Given the description of an element on the screen output the (x, y) to click on. 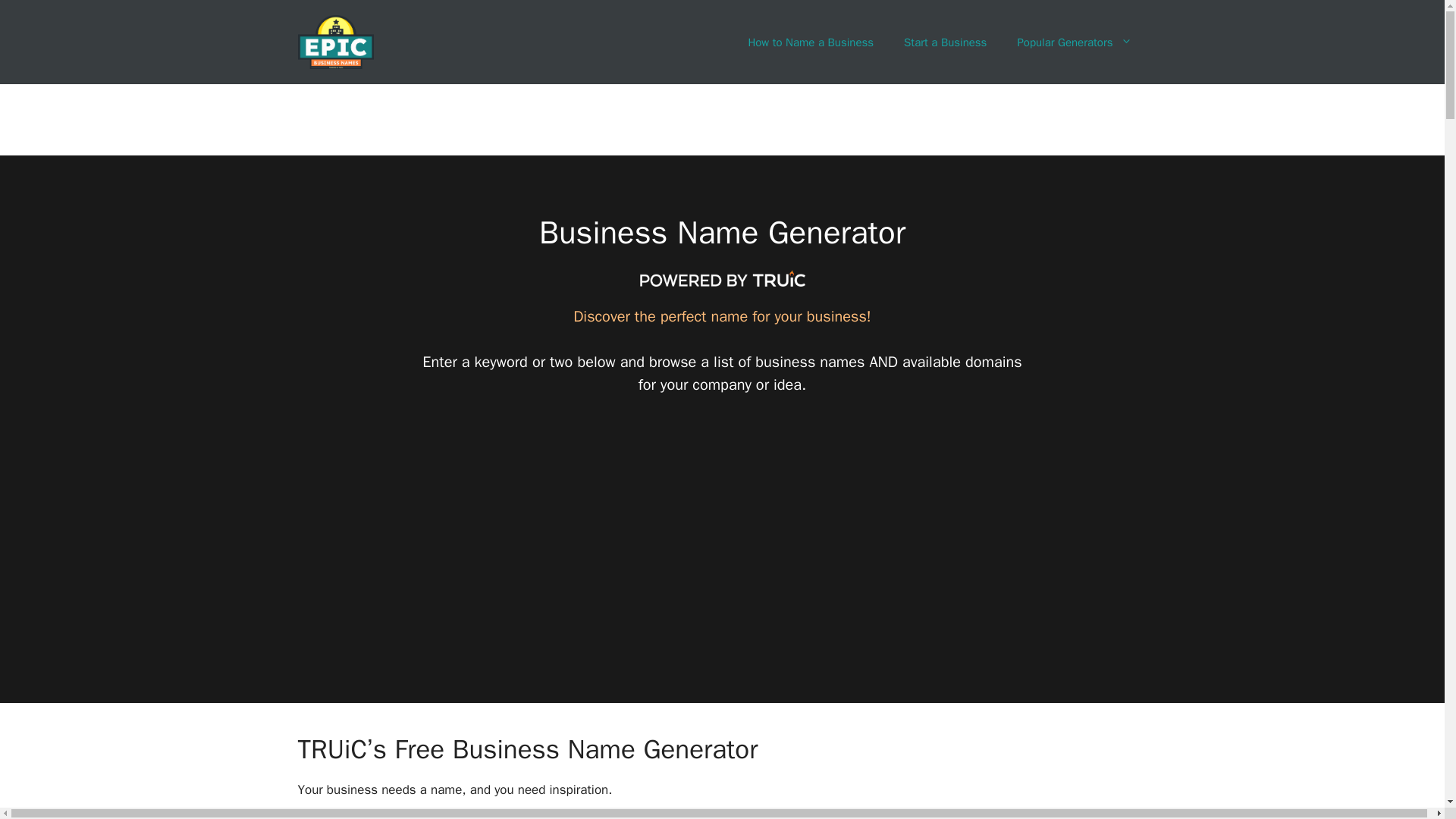
How to Name a Business (810, 42)
Start a Business (944, 42)
Popular Generators (1074, 42)
